Given the description of an element on the screen output the (x, y) to click on. 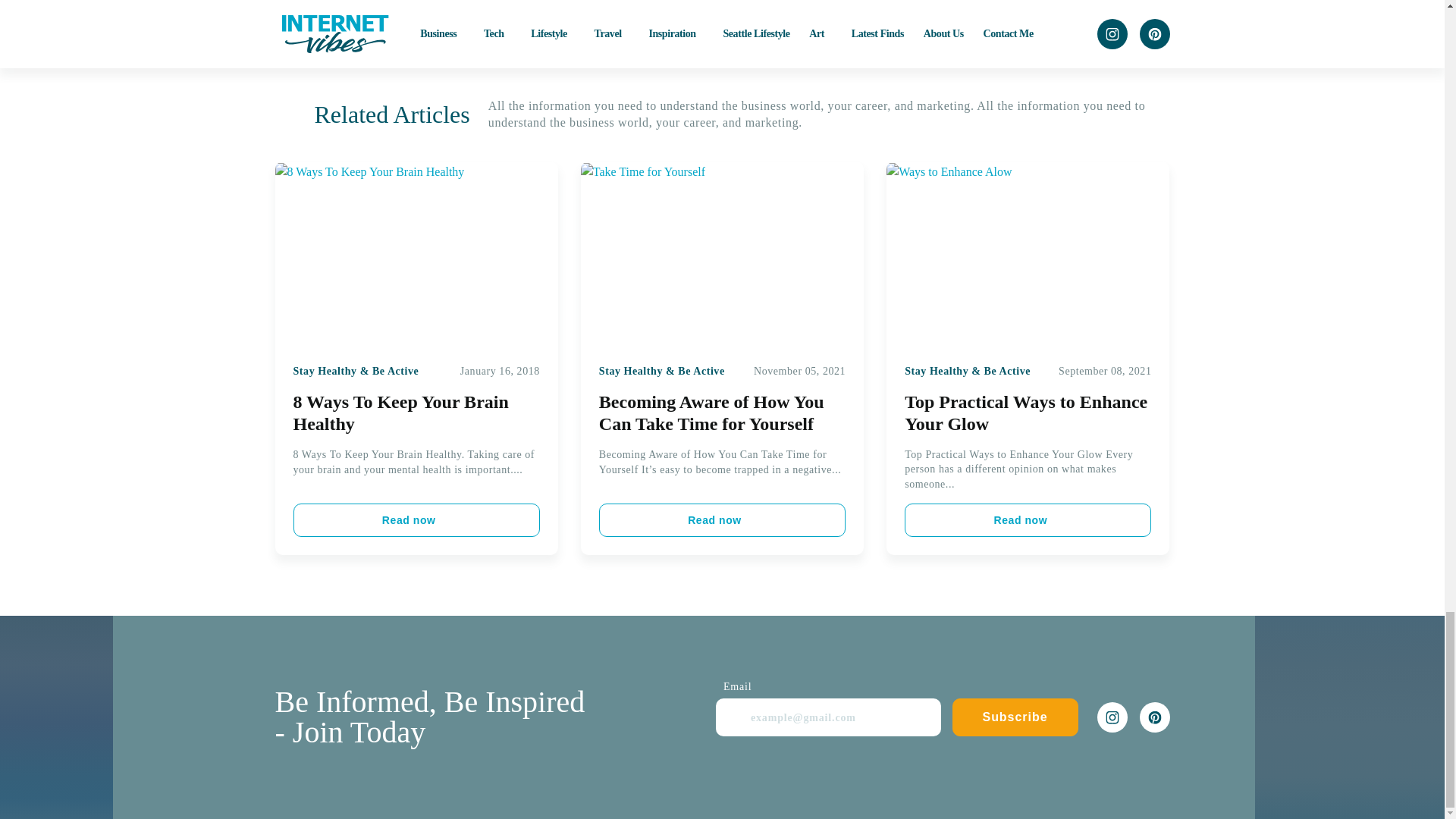
Subscribe (1015, 717)
